Given the description of an element on the screen output the (x, y) to click on. 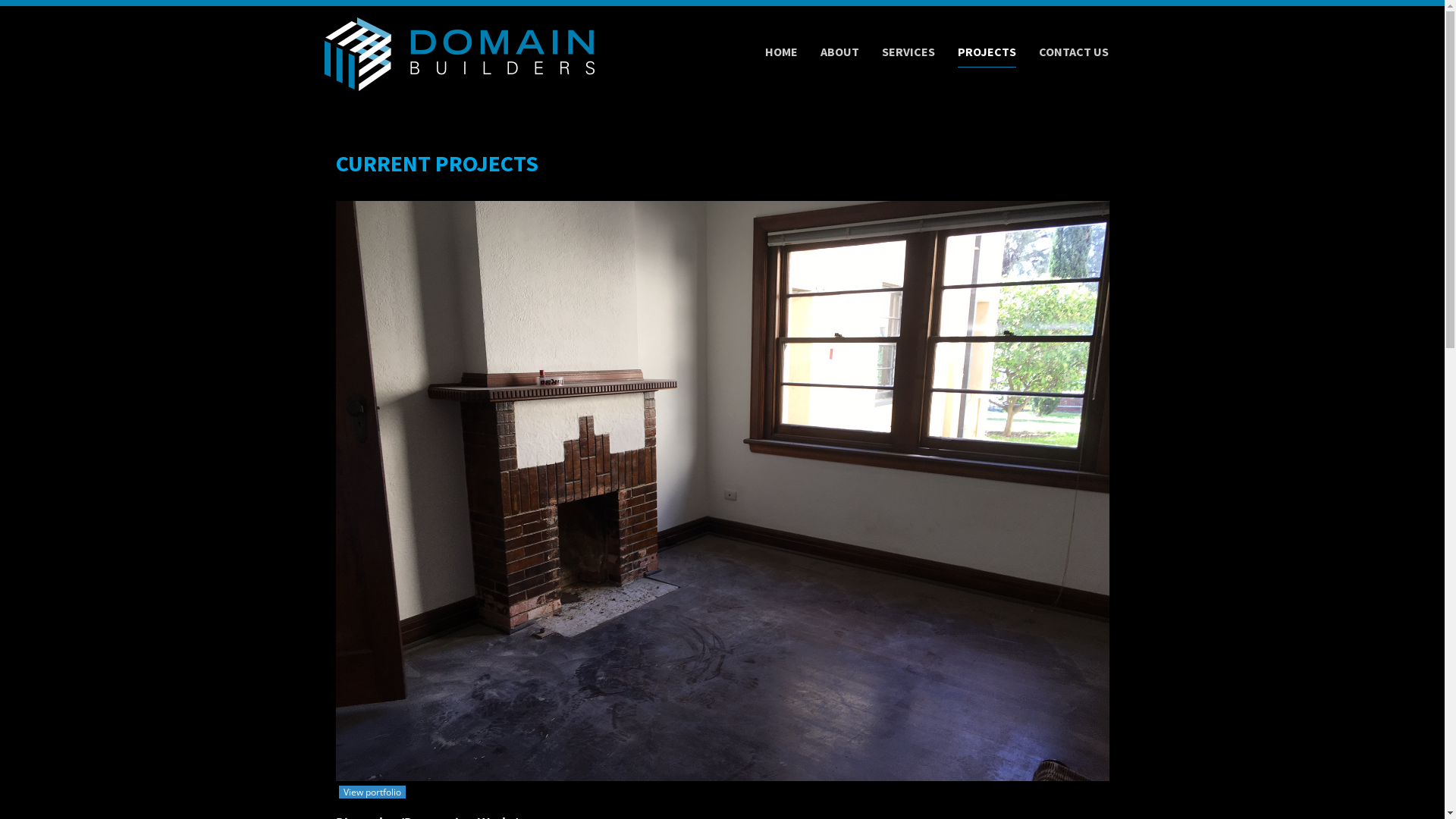
ABOUT Element type: text (839, 51)
HOME Element type: text (781, 51)
PROJECTS Element type: text (986, 51)
View portfolio Element type: text (371, 791)
CONTACT US Element type: text (1073, 51)
SERVICES Element type: text (908, 51)
